Given the description of an element on the screen output the (x, y) to click on. 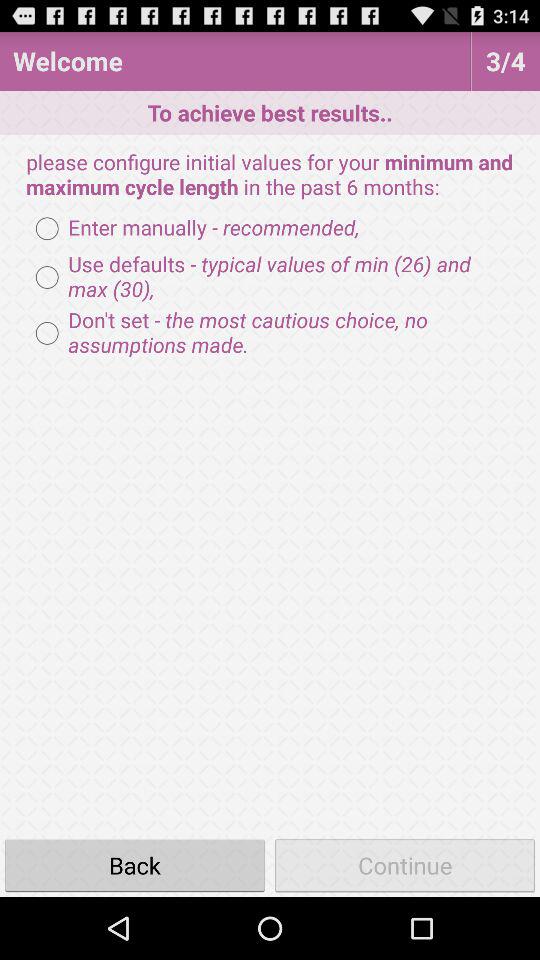
tap icon below the use defaults typical icon (269, 333)
